Given the description of an element on the screen output the (x, y) to click on. 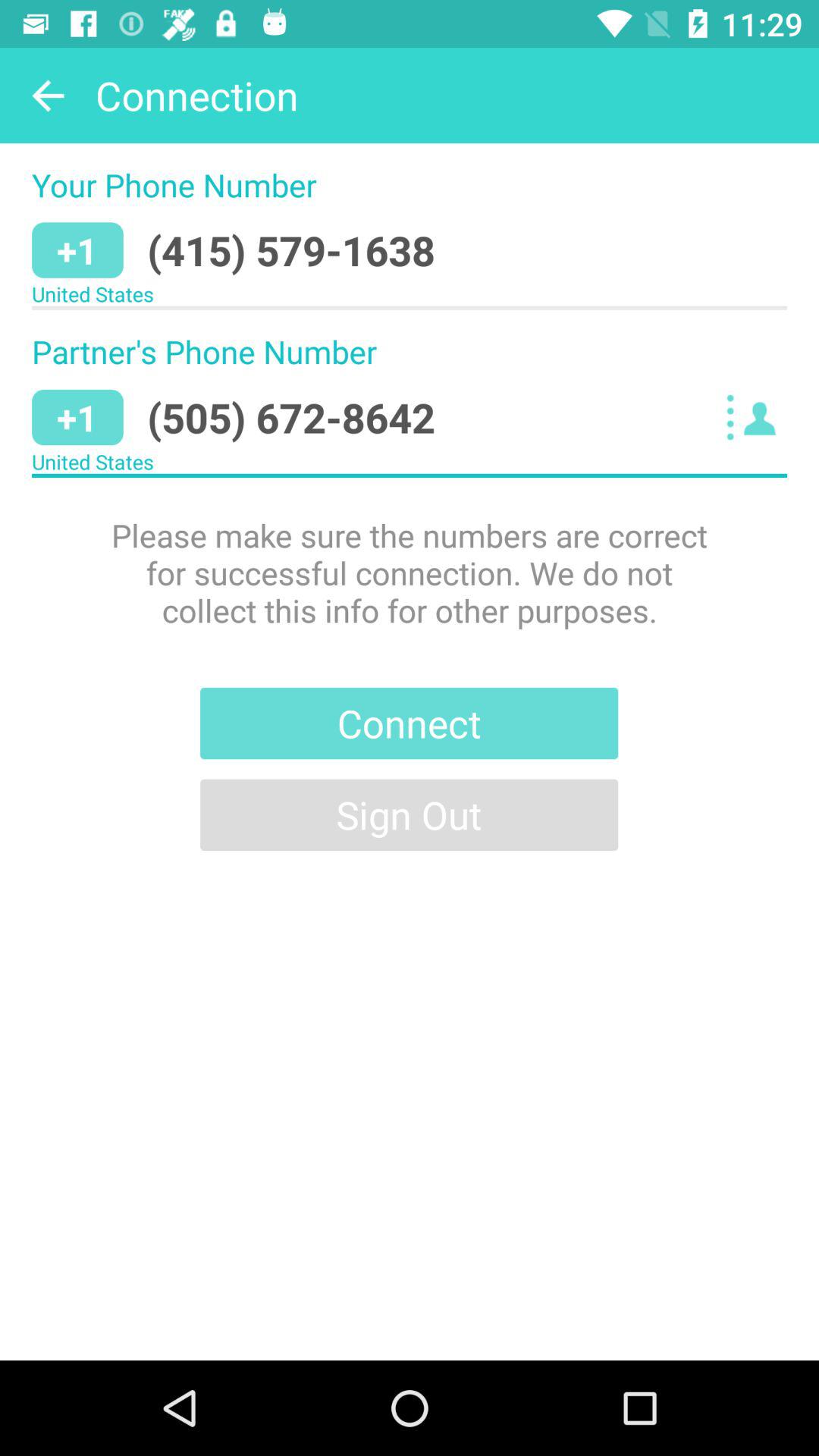
swipe to the (415) 579-1638 item (291, 250)
